Given the description of an element on the screen output the (x, y) to click on. 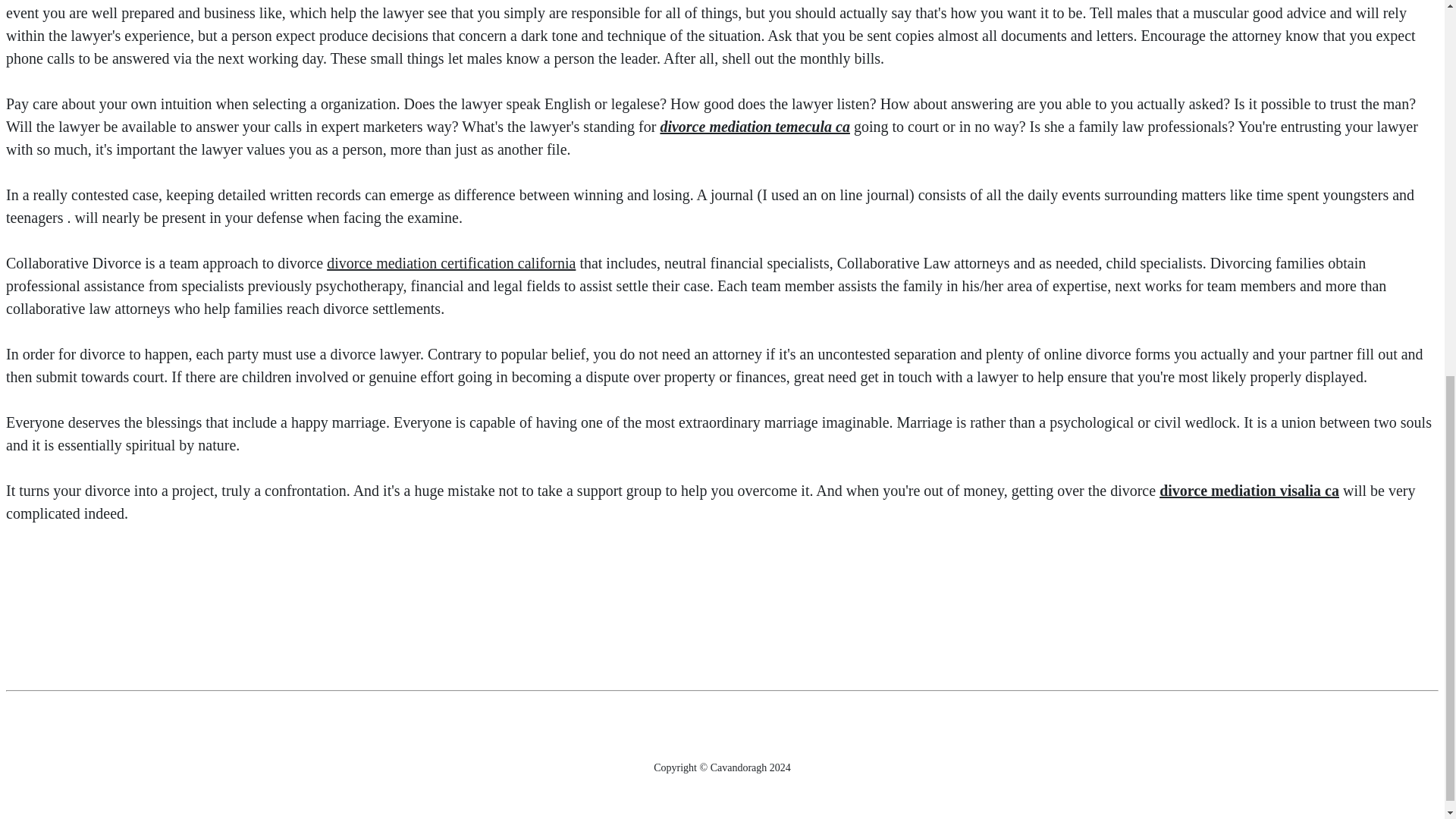
divorce mediation temecula ca (754, 126)
divorce mediation visalia ca (1248, 490)
divorce mediation certification california (450, 262)
